Given the description of an element on the screen output the (x, y) to click on. 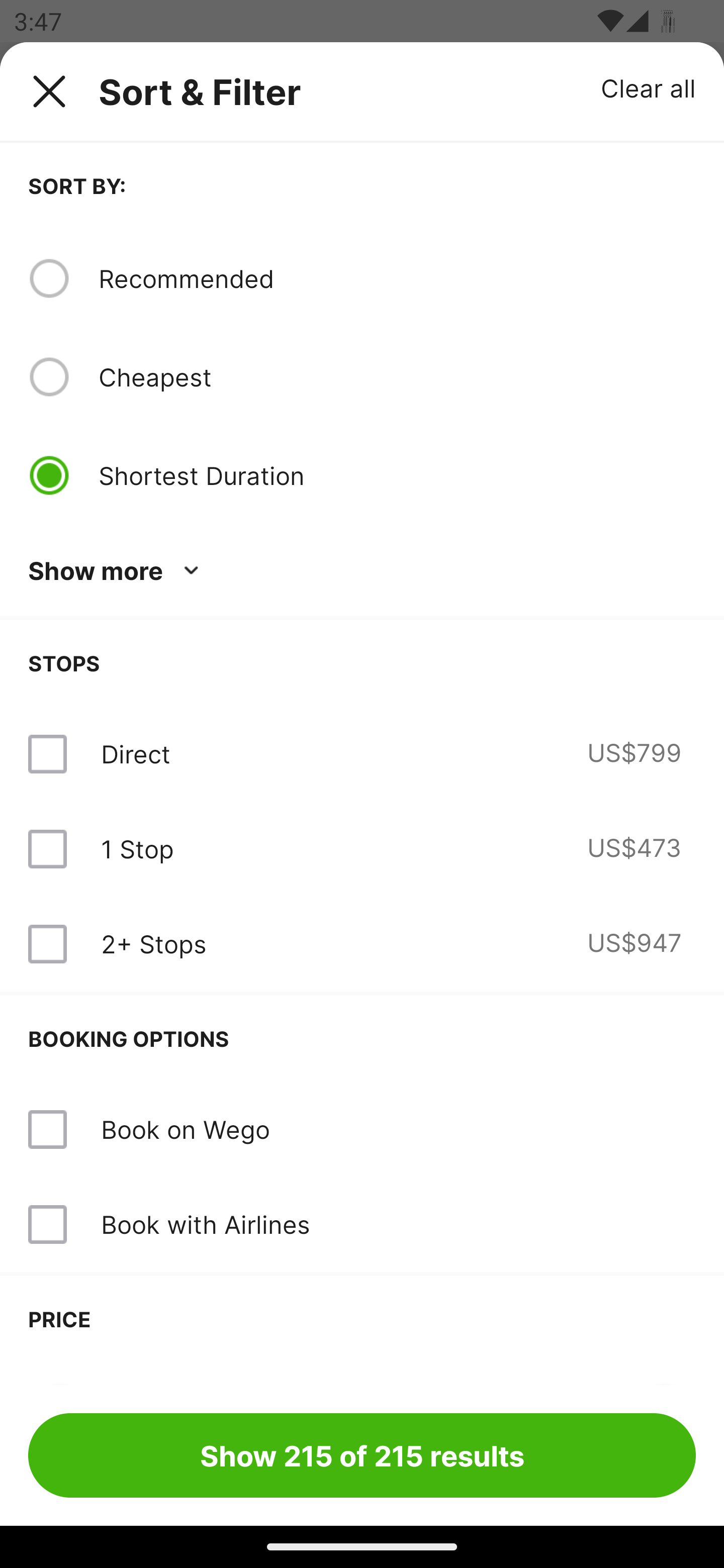
Clear all (648, 87)
Recommended  (362, 277)
Recommended  (396, 278)
Cheapest (362, 376)
Cheapest (396, 377)
Shortest Duration (362, 475)
Shortest Duration (396, 474)
Show more (116, 570)
Direct US$799 (362, 754)
Direct (135, 753)
1 Stop US$473 (362, 848)
1 Stop (136, 849)
2+ Stops US$947 (362, 943)
2+ Stops (153, 943)
Book on Wego (362, 1129)
Book on Wego (184, 1128)
Book with Airlines (362, 1224)
Book with Airlines (204, 1224)
Show 215 of 215 results (361, 1454)
